Given the description of an element on the screen output the (x, y) to click on. 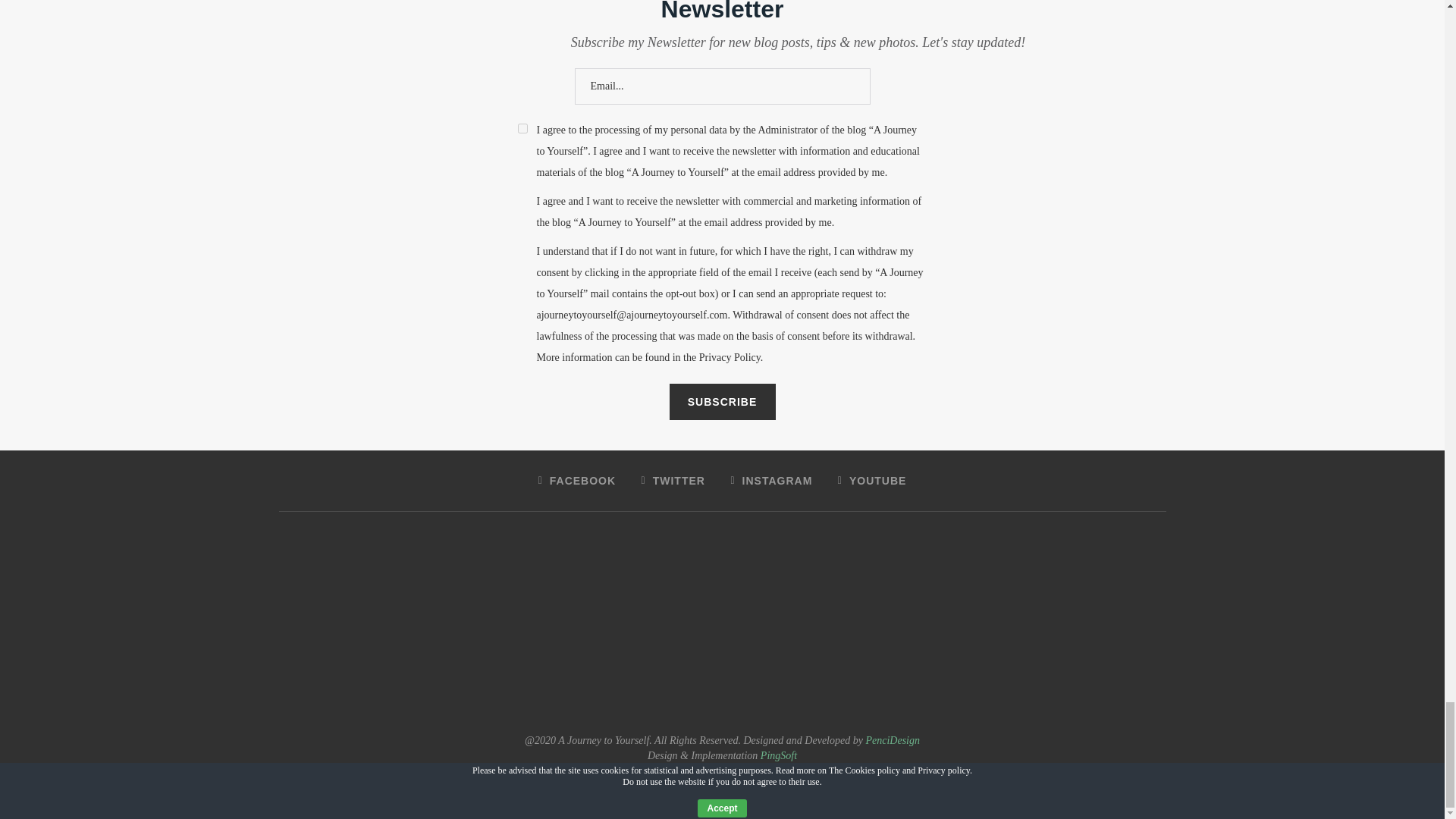
Subscribe (721, 402)
1 (521, 128)
